Given the description of an element on the screen output the (x, y) to click on. 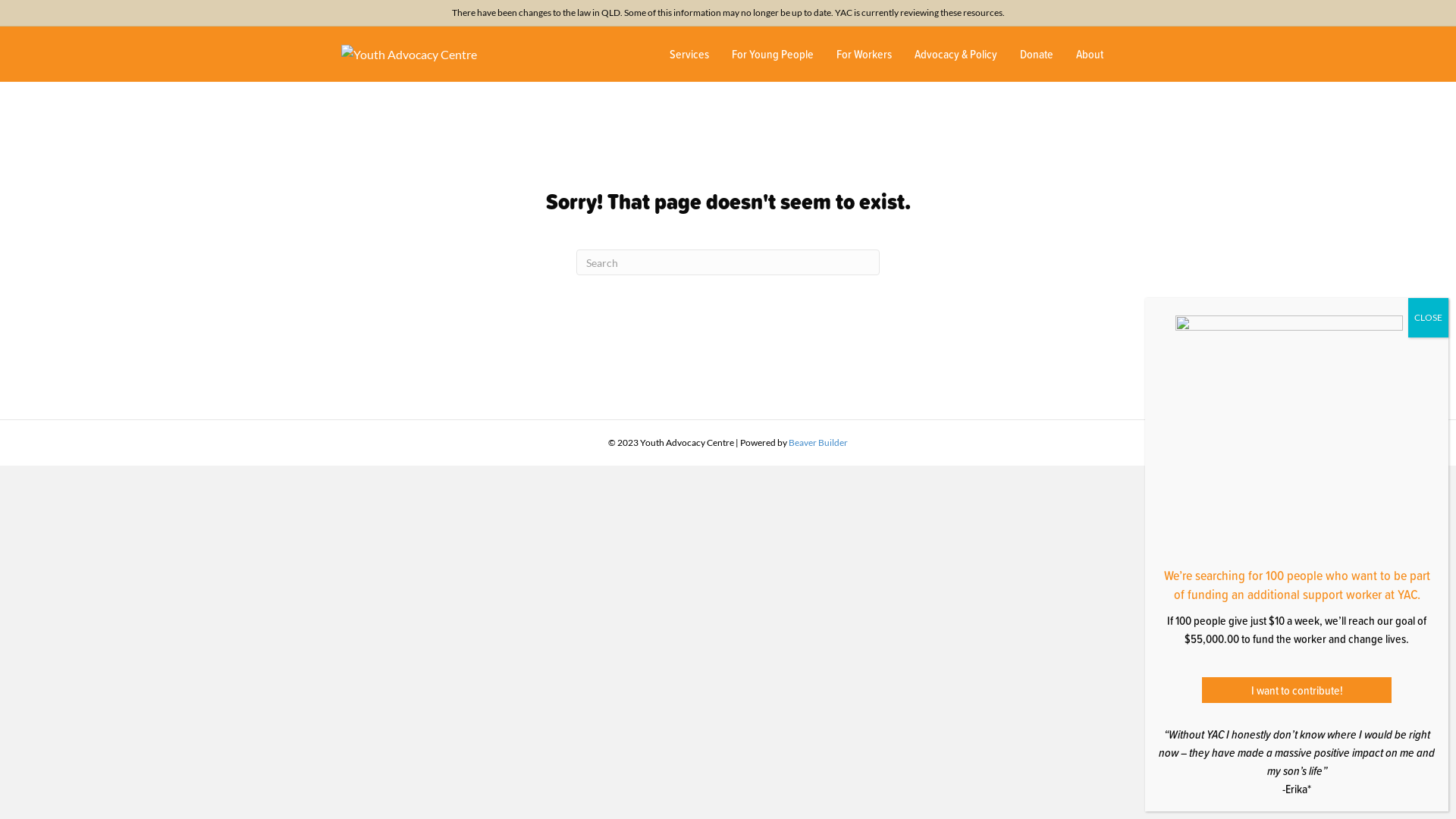
For Young People Element type: text (772, 53)
I want to contribute! Element type: text (1297, 689)
Services Element type: text (689, 53)
For Workers Element type: text (864, 53)
Donate Element type: text (1036, 53)
CLOSE Element type: text (1428, 317)
Type and press Enter to search. Element type: hover (727, 262)
Beaver Builder Element type: text (817, 442)
About Element type: text (1089, 53)
Advocacy & Policy Element type: text (955, 53)
